Given the description of an element on the screen output the (x, y) to click on. 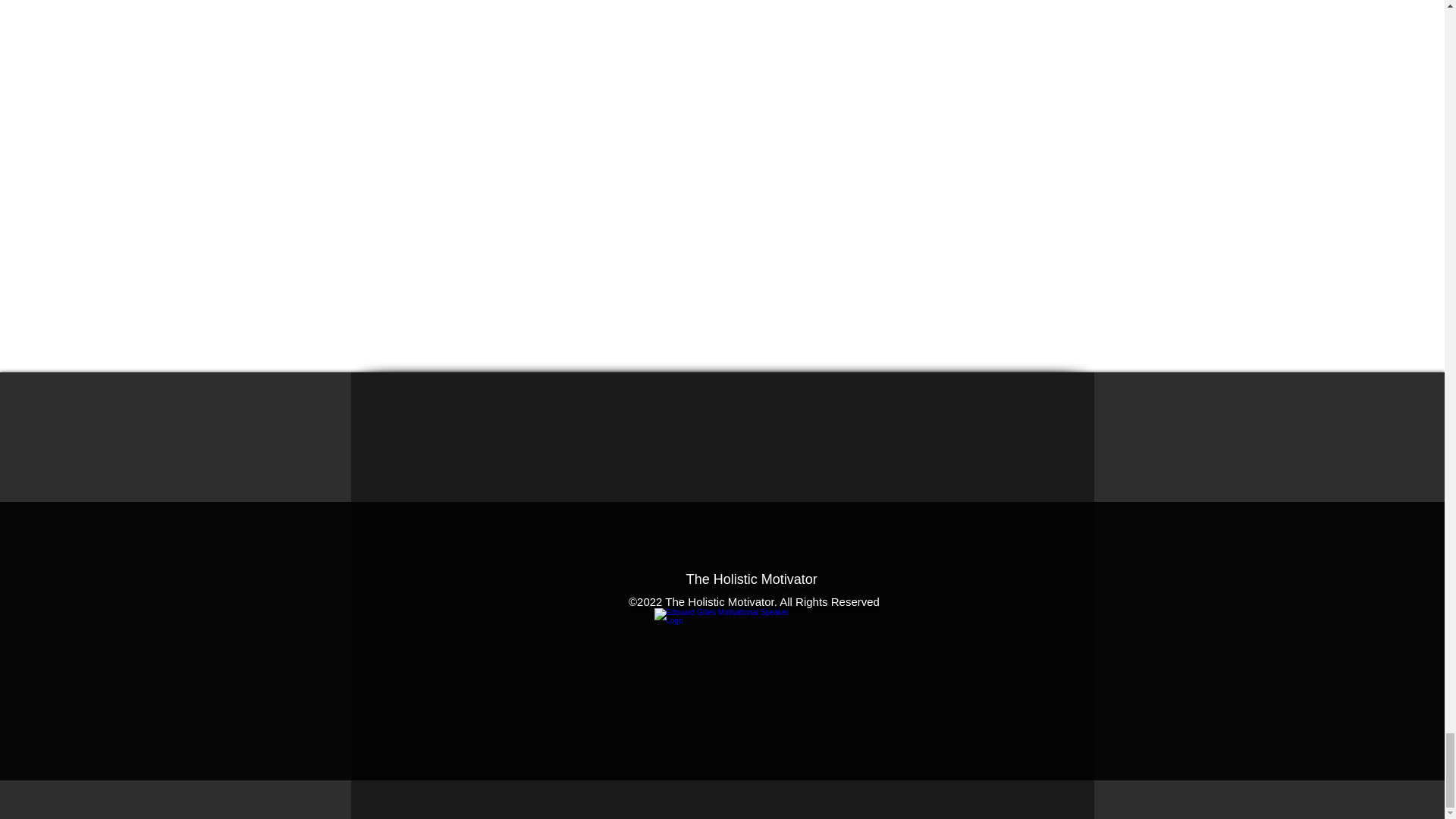
Click this link to scroll up (729, 661)
